Given the description of an element on the screen output the (x, y) to click on. 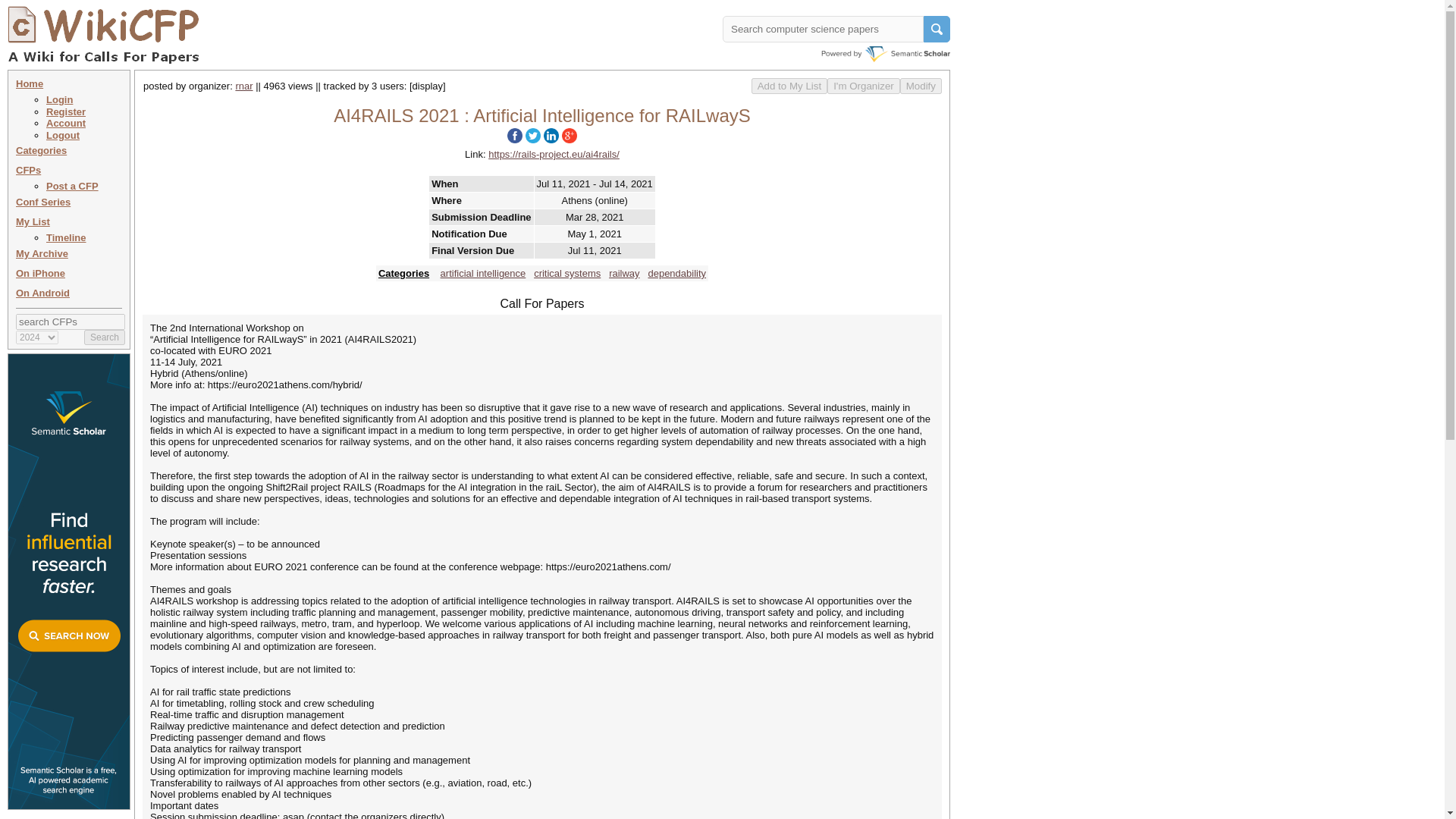
Search (104, 337)
On iPhone (40, 273)
railway (623, 273)
Add to My List (789, 85)
dependability (676, 273)
Timeline (65, 237)
CFPs (28, 170)
I'm Organizer (863, 85)
Add to My List (789, 85)
My List (32, 221)
